Given the description of an element on the screen output the (x, y) to click on. 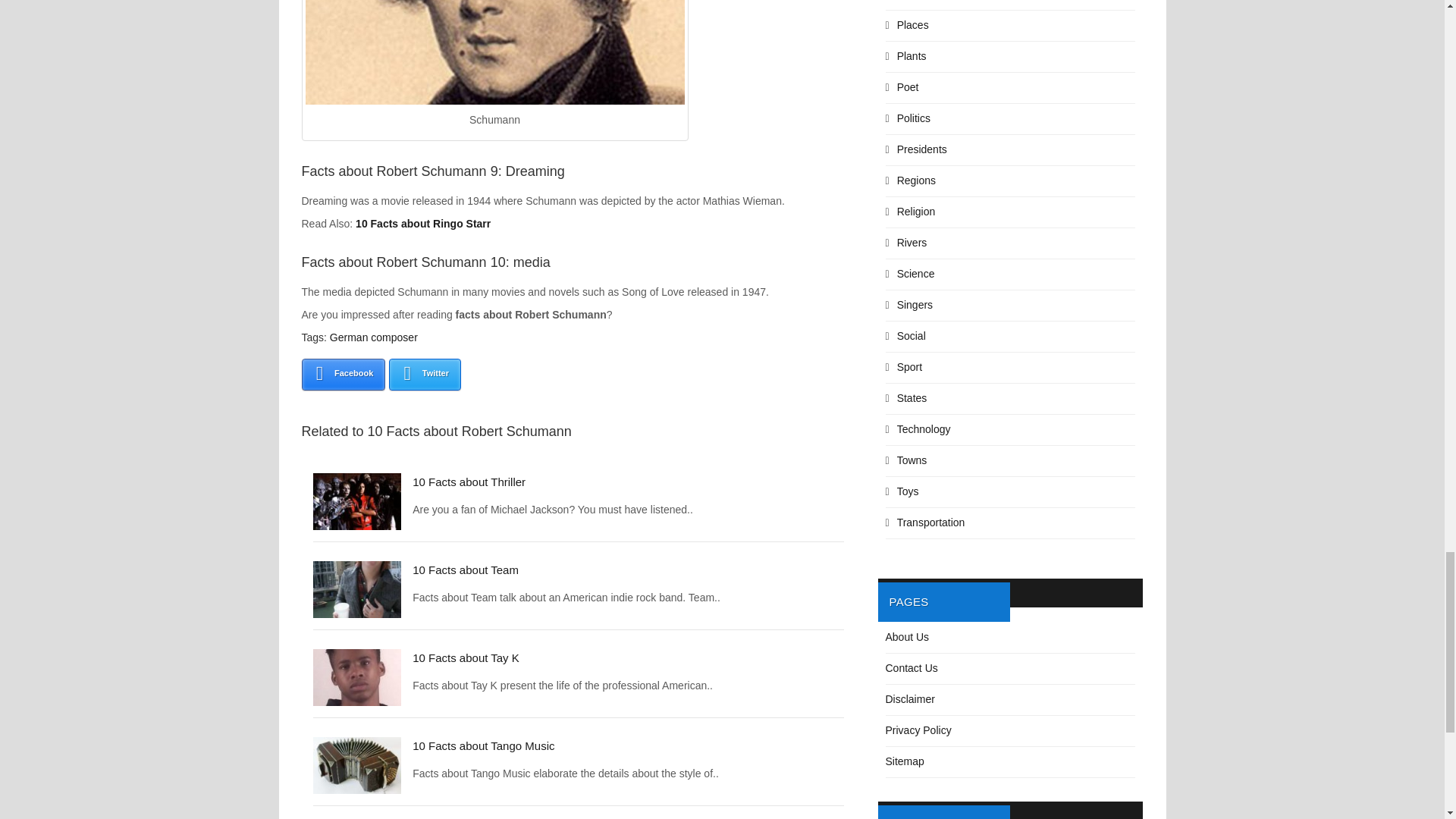
German composer (373, 337)
10 Facts about Tango Music (483, 745)
10 Facts about Thriller (468, 481)
10 Facts about Ringo Starr (422, 223)
10 Facts about Tay K (465, 657)
10 Facts about Team (465, 569)
Twitter (424, 374)
Facebook (343, 374)
